Given the description of an element on the screen output the (x, y) to click on. 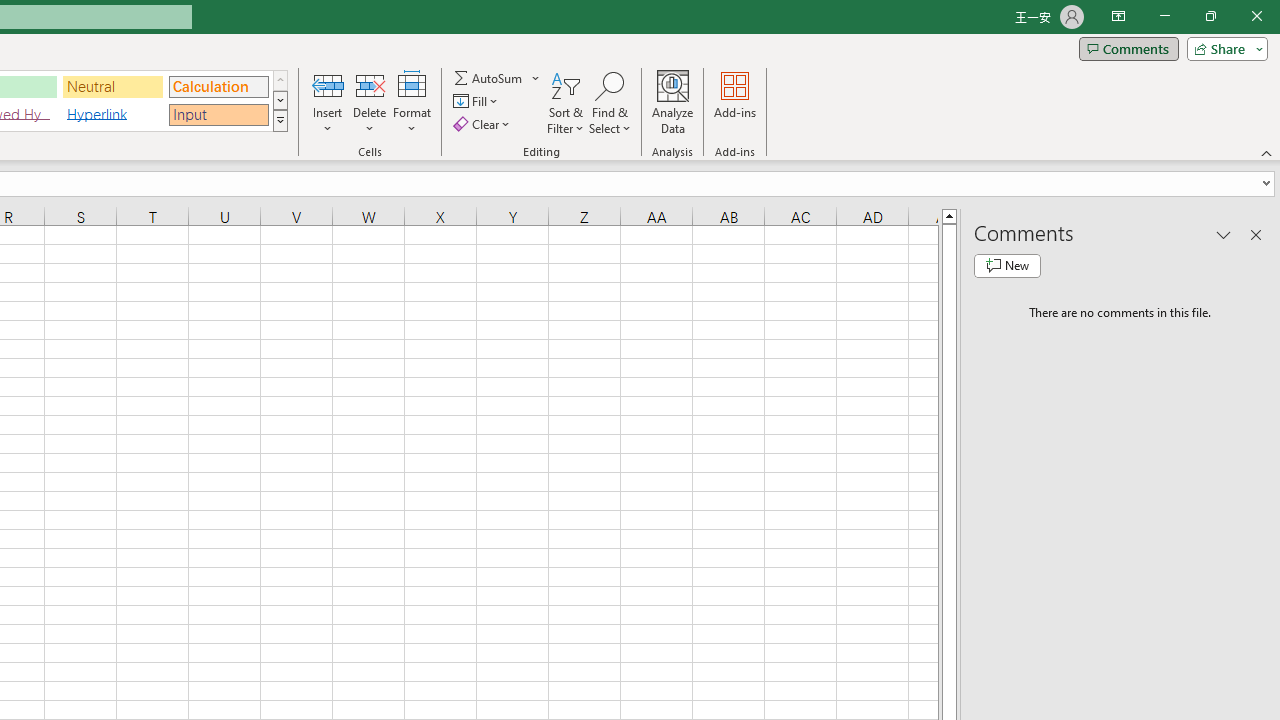
Delete (369, 102)
Find & Select (610, 102)
Cell Styles (280, 120)
Calculation (218, 86)
Sum (489, 78)
New comment (1007, 265)
AutoSum (497, 78)
